Given the description of an element on the screen output the (x, y) to click on. 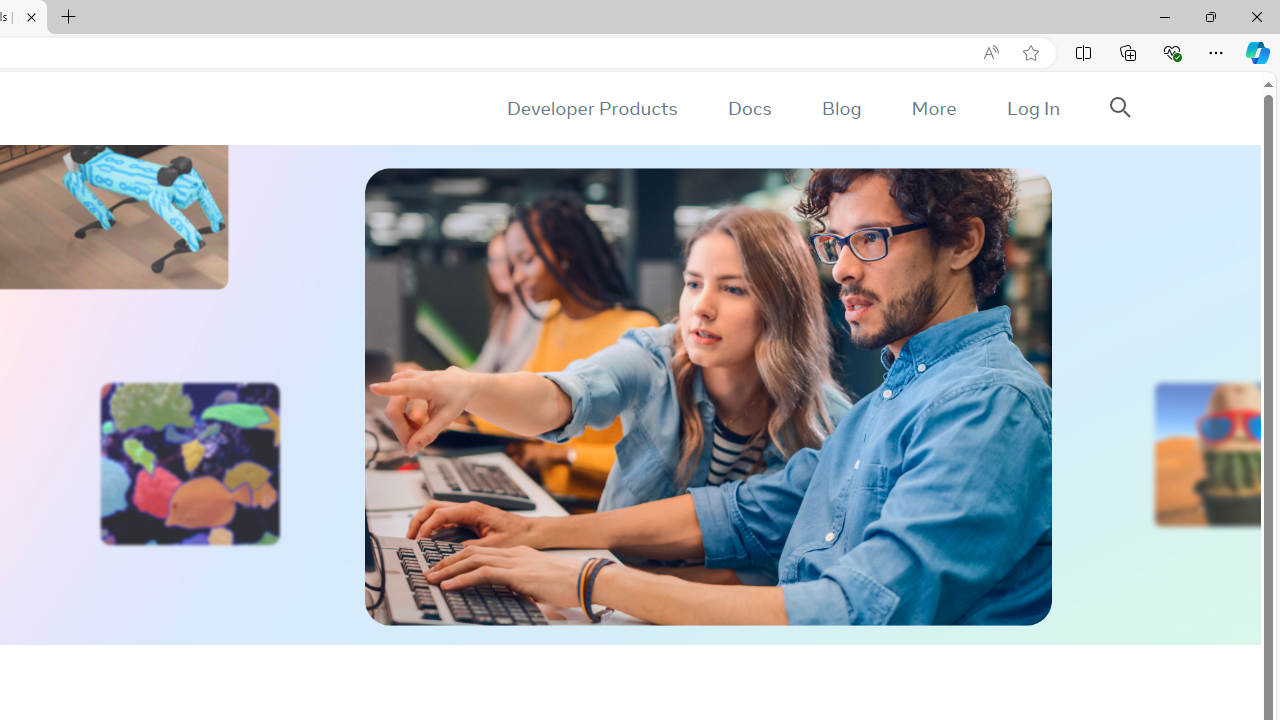
Log In (1032, 108)
Docs (749, 108)
Developer Products (591, 108)
Developer Products (591, 108)
Log In (1032, 108)
More (933, 108)
Docs (749, 108)
